Given the description of an element on the screen output the (x, y) to click on. 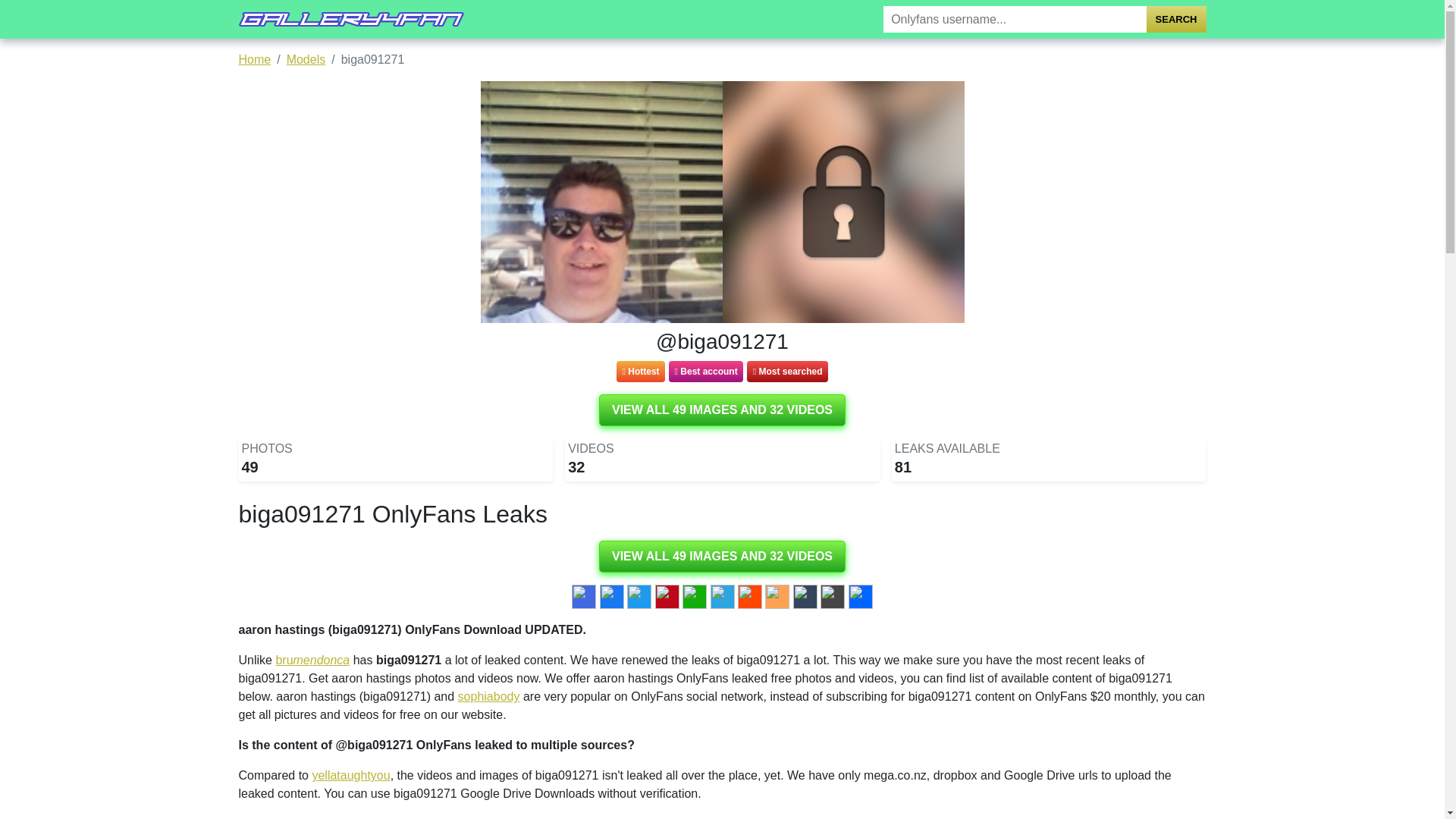
yellataughtyou (350, 775)
sophiabody (488, 696)
Home (254, 59)
VIEW ALL 49 IMAGES AND 32 VIDEOS (721, 409)
VIEW ALL 49 IMAGES AND 32 VIDEOS (721, 556)
SEARCH (1177, 18)
Models (306, 59)
brumendonca (312, 659)
